Given the description of an element on the screen output the (x, y) to click on. 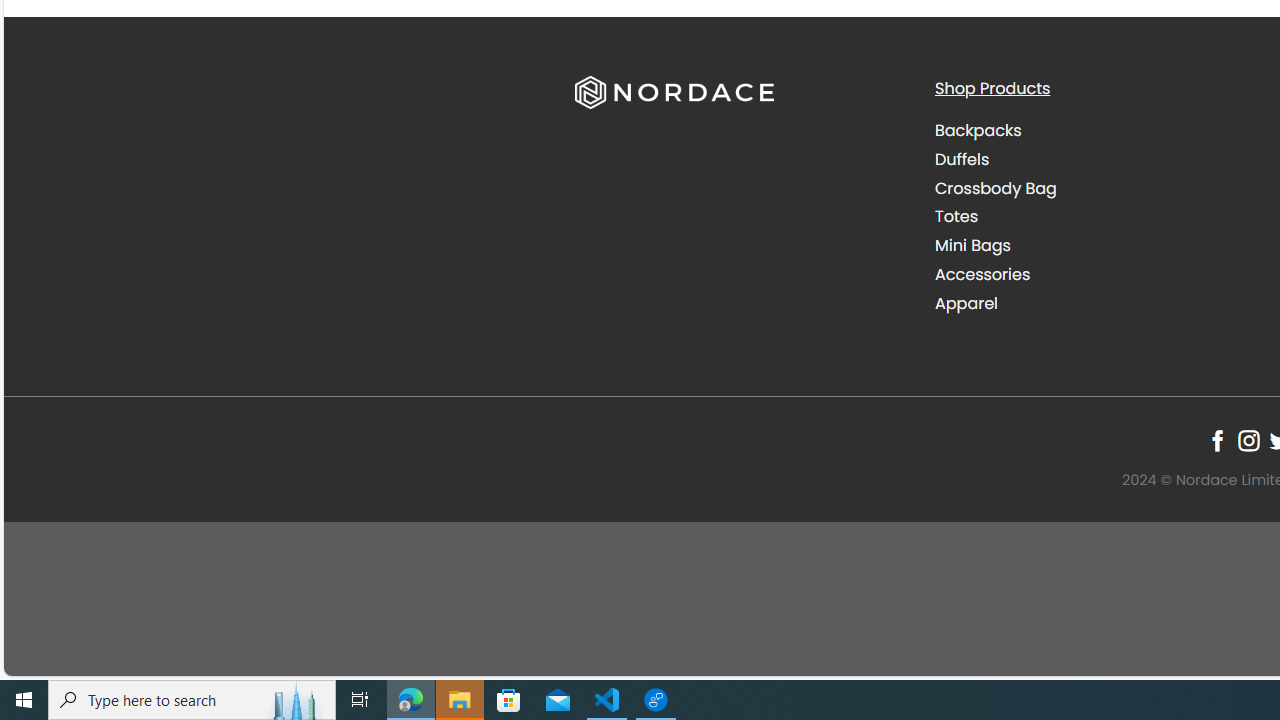
Duffels (961, 158)
